Given the description of an element on the screen output the (x, y) to click on. 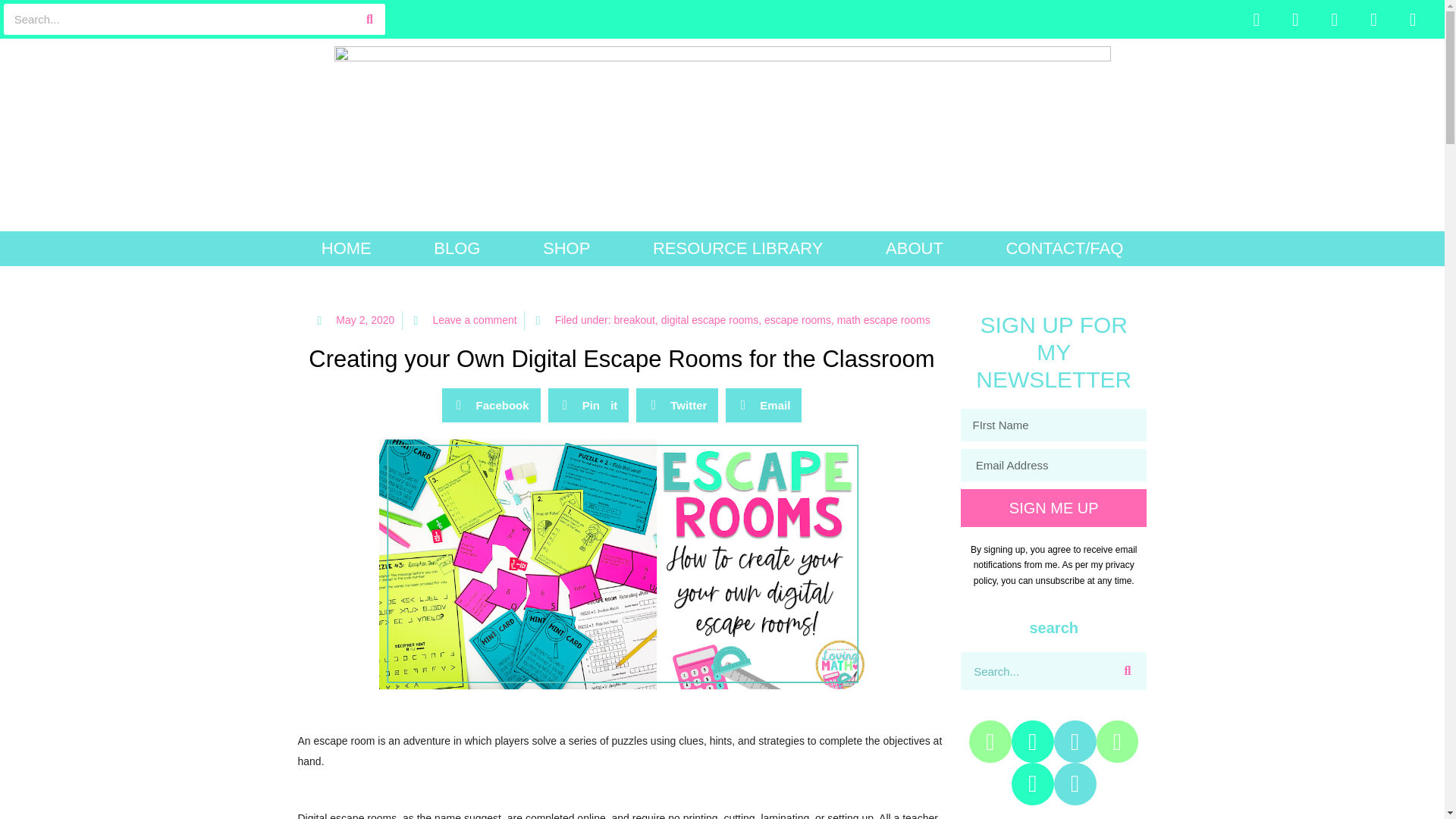
SHOP (566, 248)
digital escape rooms (709, 319)
breakout (634, 319)
math escape rooms (883, 319)
HOME (346, 248)
Leave a comment (462, 321)
RESOURCE LIBRARY (737, 248)
escape rooms (797, 319)
ABOUT (914, 248)
BLOG (457, 248)
